Given the description of an element on the screen output the (x, y) to click on. 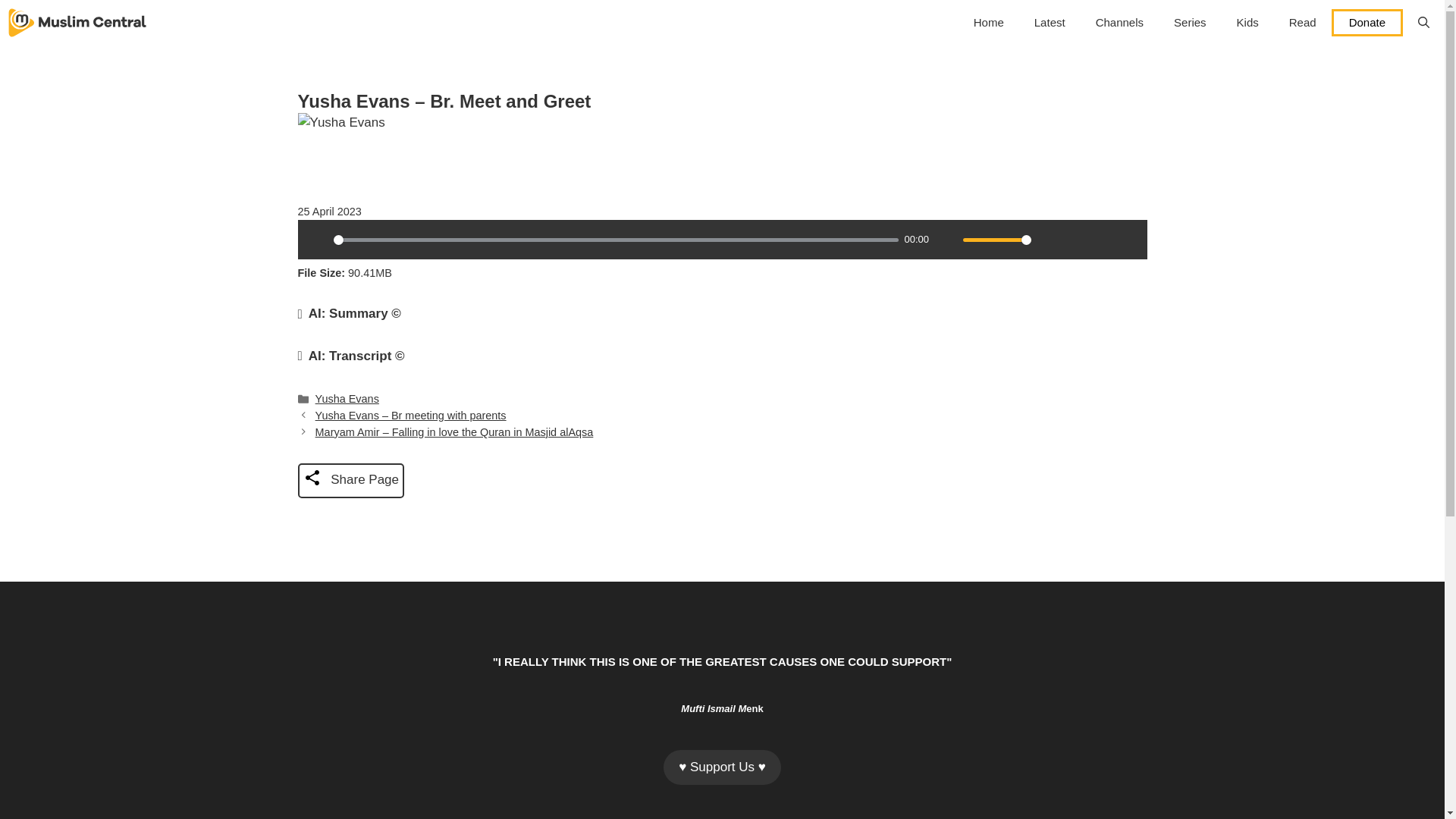
Settings (1048, 239)
Latest (1049, 22)
Mute (946, 239)
Donate (1367, 22)
Muslim Central (77, 22)
Download (1074, 239)
Read (1303, 22)
Yusha Evans (346, 398)
Rewind 10s (1101, 239)
Kids (1247, 22)
